Given the description of an element on the screen output the (x, y) to click on. 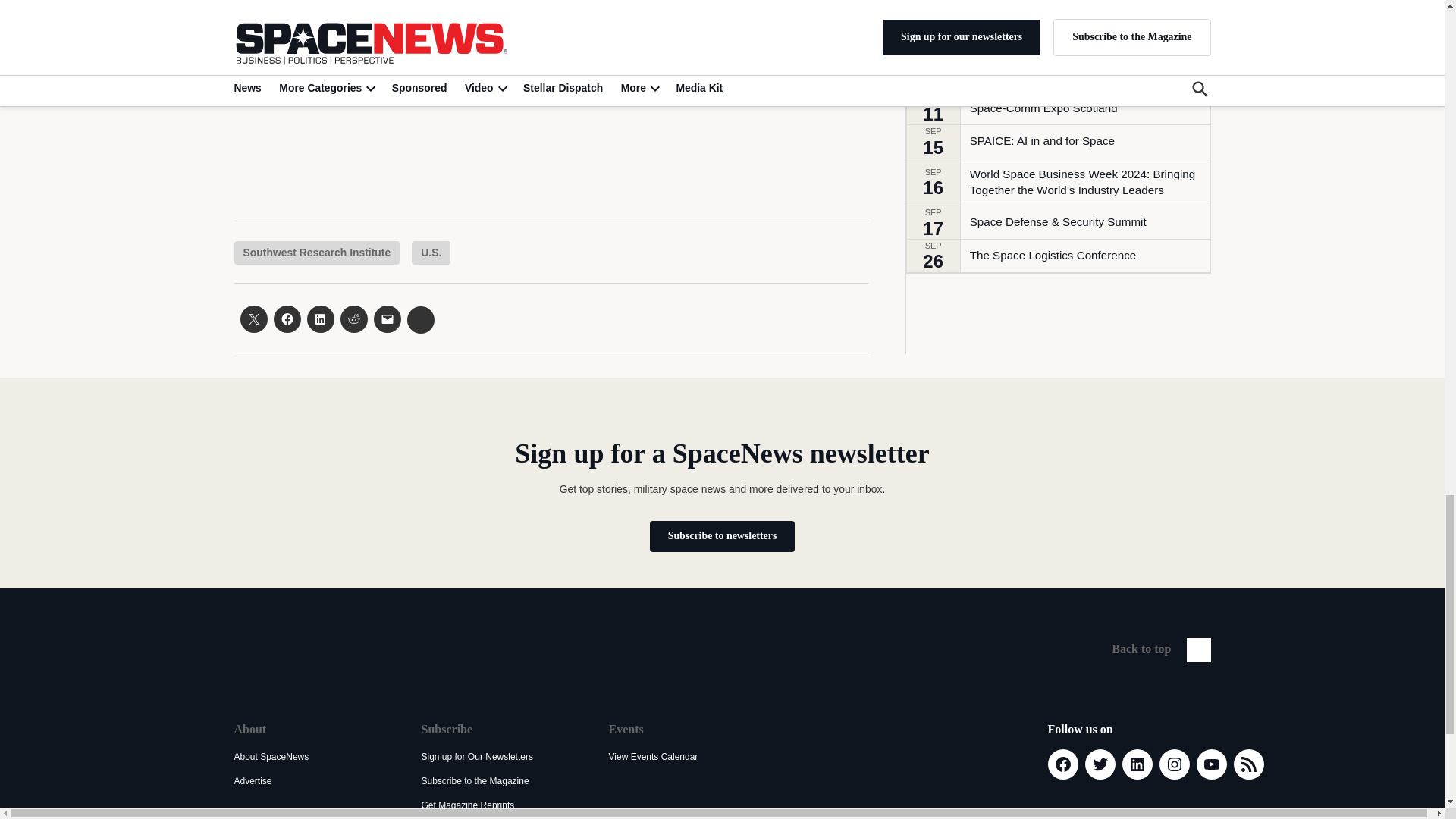
Click to share on Facebook (286, 318)
Click to share on Reddit (352, 318)
Click to email a link to a friend (386, 318)
Click to share on LinkedIn (319, 318)
Click to share on X (253, 318)
Click to share on Clipboard (419, 319)
